Given the description of an element on the screen output the (x, y) to click on. 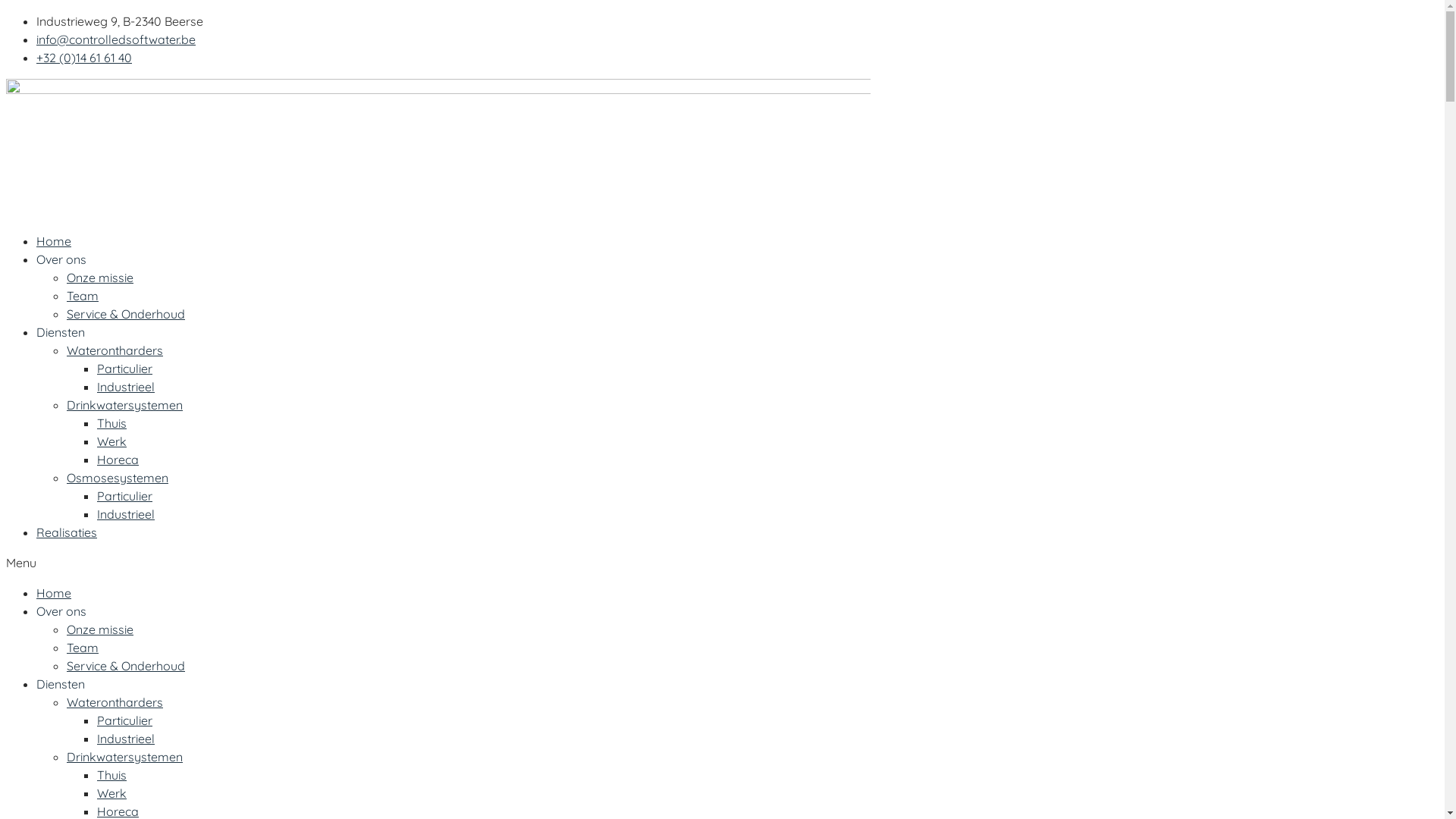
Onze missie Element type: text (99, 629)
+32 (0)14 61 61 40 Element type: text (83, 57)
info@controlledsoftwater.be Element type: text (115, 39)
Horeca Element type: text (117, 459)
Drinkwatersystemen Element type: text (124, 404)
Realisaties Element type: text (66, 531)
Particulier Element type: text (124, 495)
Industrieel Element type: text (125, 738)
Onze missie Element type: text (99, 277)
Diensten Element type: text (60, 683)
Home Element type: text (53, 240)
Diensten Element type: text (60, 331)
Service & Onderhoud Element type: text (125, 665)
Industrieel Element type: text (125, 386)
Over ons Element type: text (61, 610)
Osmosesystemen Element type: text (117, 477)
Waterontharders Element type: text (114, 349)
Werk Element type: text (111, 440)
Waterontharders Element type: text (114, 701)
Industrieel Element type: text (125, 513)
Thuis Element type: text (111, 422)
Home Element type: text (53, 592)
Thuis Element type: text (111, 774)
Spring naar de inhoud Element type: text (5, 11)
Werk Element type: text (111, 792)
Particulier Element type: text (124, 368)
Drinkwatersystemen Element type: text (124, 756)
Team Element type: text (82, 295)
Service & Onderhoud Element type: text (125, 313)
Particulier Element type: text (124, 720)
Team Element type: text (82, 647)
Over ons Element type: text (61, 258)
